Given the description of an element on the screen output the (x, y) to click on. 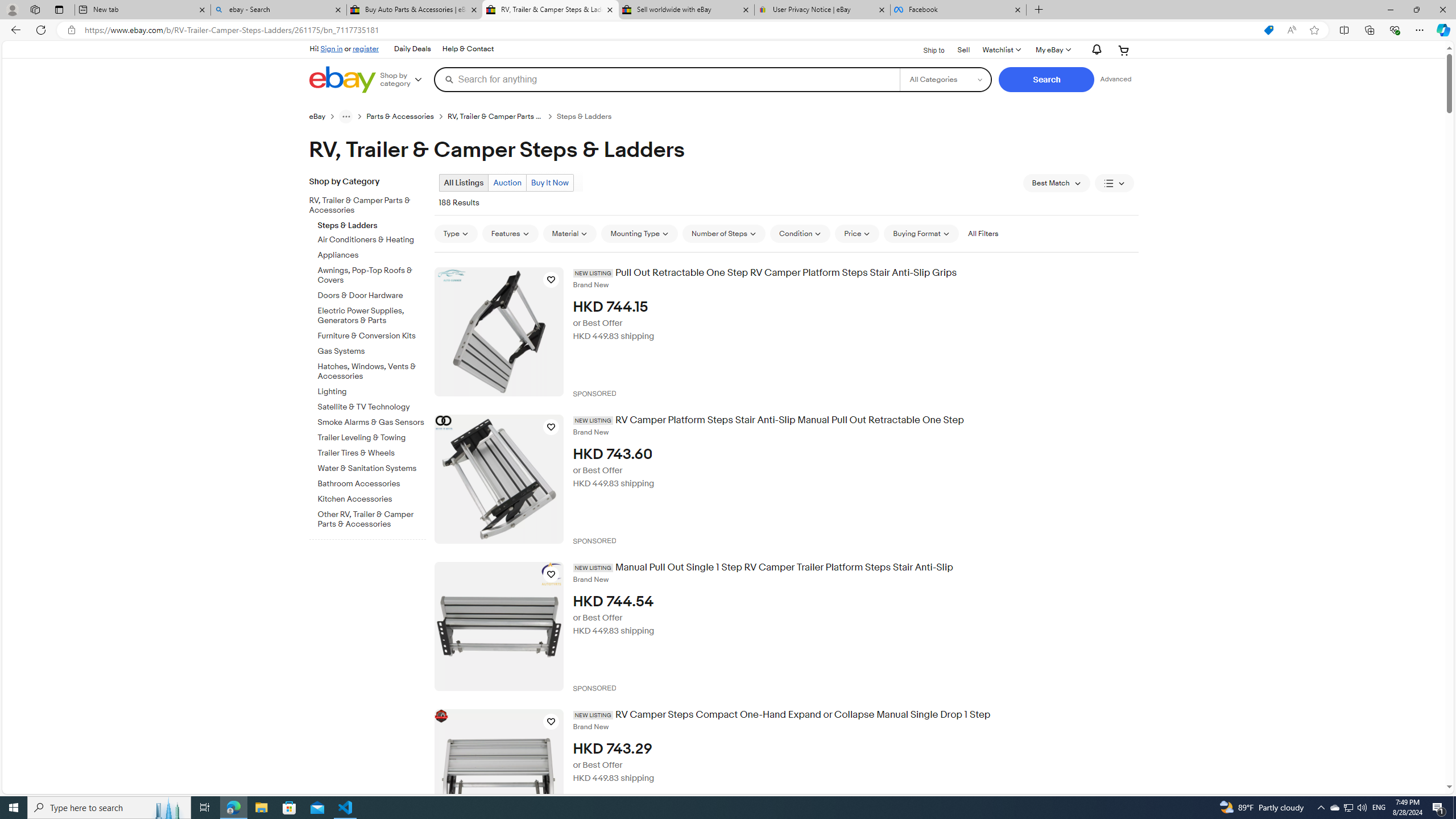
Condition (800, 233)
Furniture & Conversion Kits (371, 333)
Features (509, 233)
RV, Trailer & Camper Parts & Accessories (362, 205)
Facebook (957, 9)
ebay - Search (277, 9)
Material (569, 233)
AutomationID: gh-eb-Alerts (1094, 49)
Smoke Alarms & Gas Sensors (371, 422)
Water & Sanitation Systems (371, 468)
Satellite & TV Technology (371, 404)
Doors & Door Hardware (371, 293)
This site has coupons! Shopping in Microsoft Edge (1268, 29)
